Given the description of an element on the screen output the (x, y) to click on. 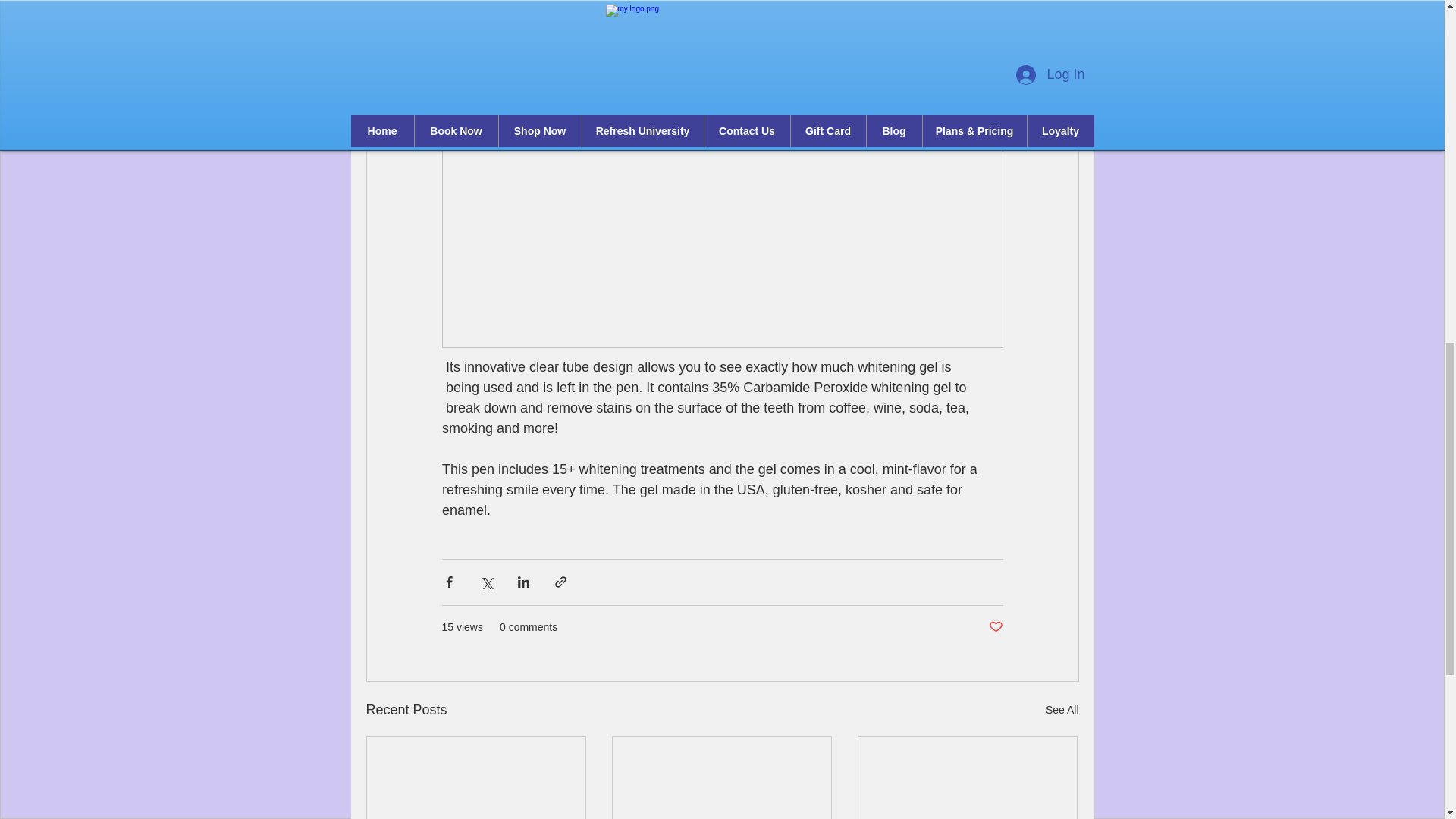
See All (1061, 710)
Post not marked as liked (995, 627)
